Given the description of an element on the screen output the (x, y) to click on. 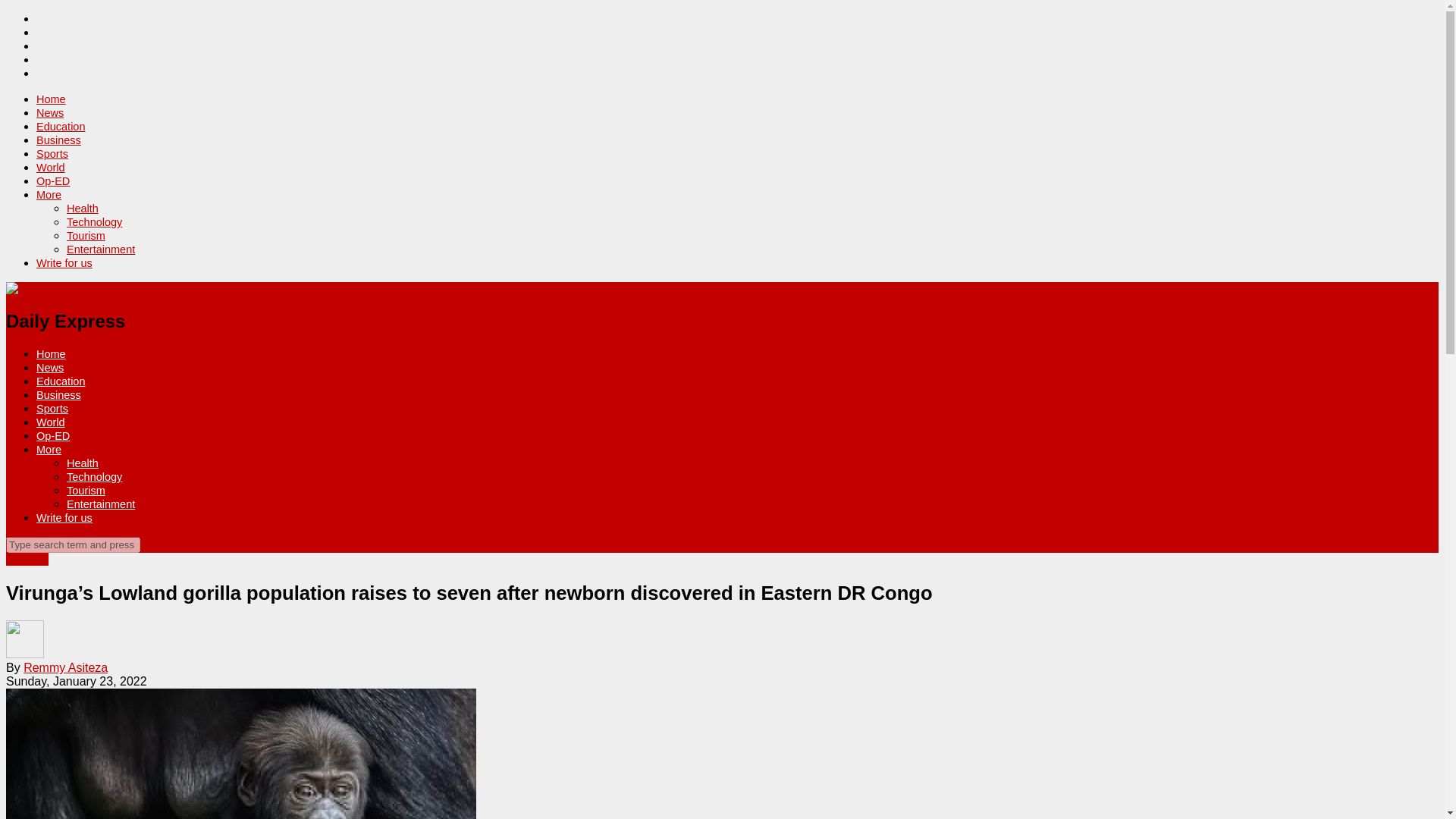
Health (82, 208)
Entertainment (100, 503)
News (50, 367)
World (50, 422)
Type search term and press enter (72, 544)
Tourism (85, 490)
World (50, 167)
Home (50, 99)
Sports (52, 408)
Entertainment (100, 249)
